Given the description of an element on the screen output the (x, y) to click on. 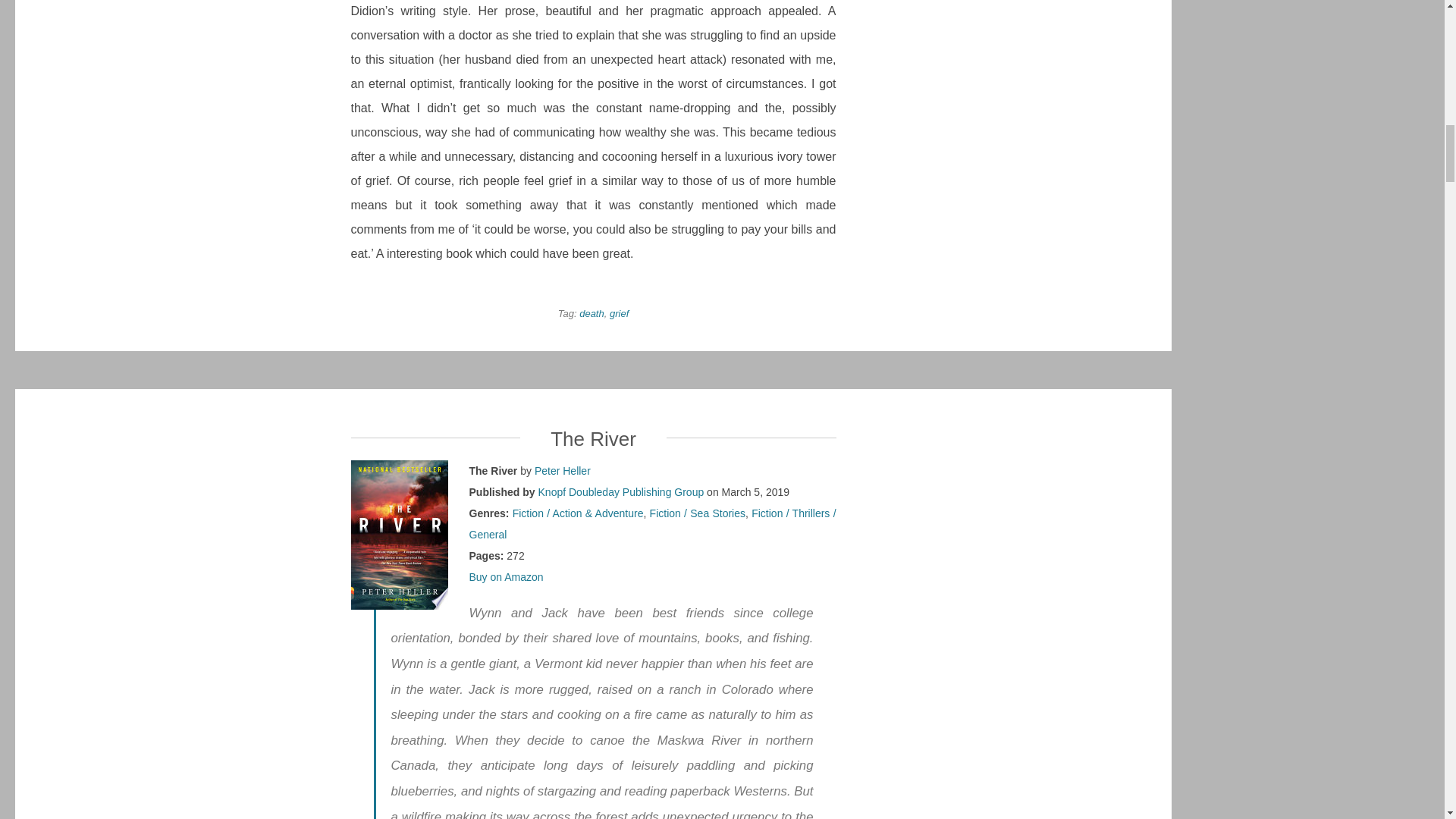
The River (593, 438)
Buy on Amazon (505, 576)
Knopf Doubleday Publishing Group (621, 491)
grief (619, 313)
death (591, 313)
Peter Heller (562, 470)
